Given the description of an element on the screen output the (x, y) to click on. 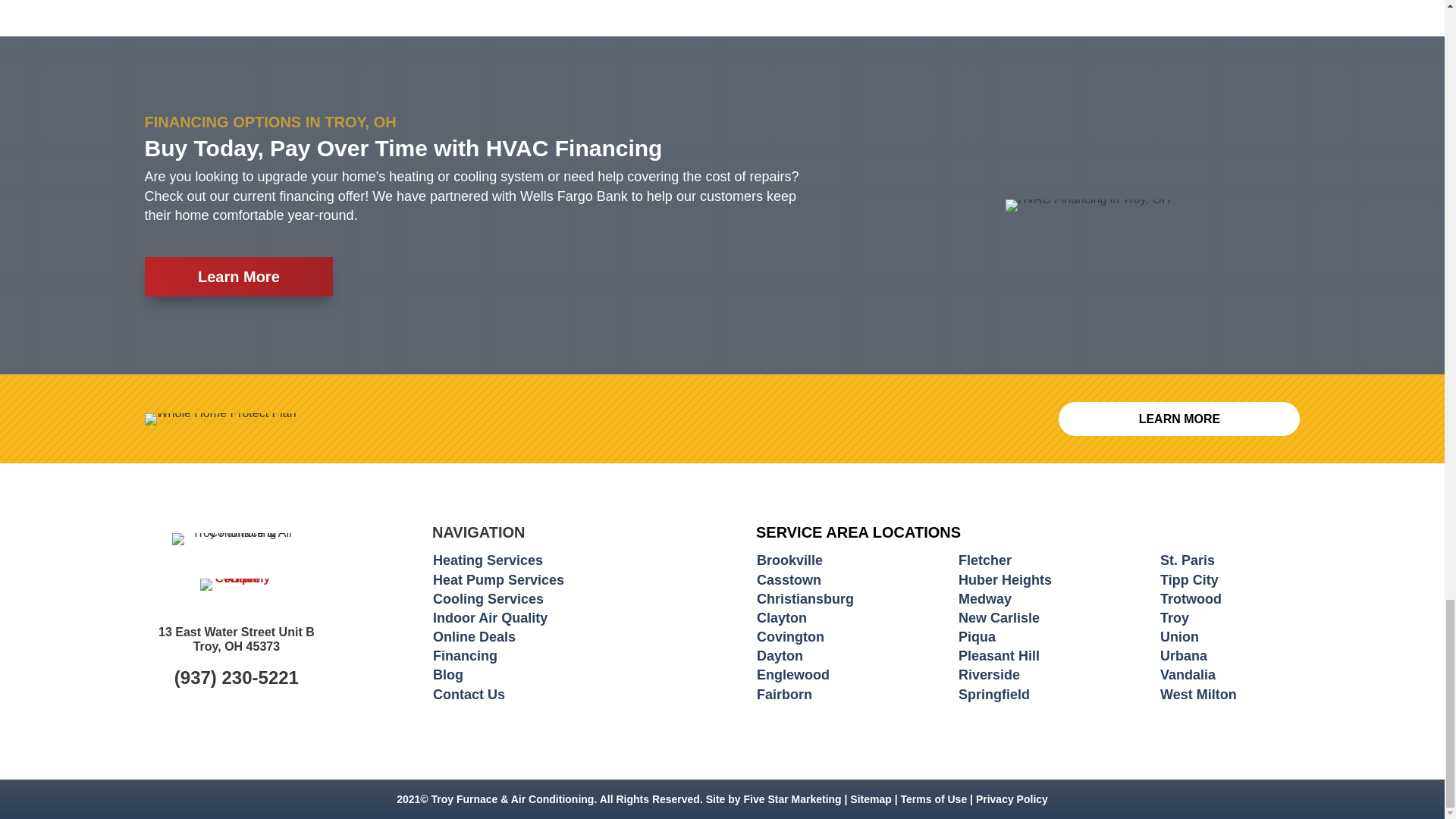
Whole Home Protect Plan (219, 419)
HVAC Financing in Troy, OH (1088, 205)
A Five Star Company (236, 584)
